Given the description of an element on the screen output the (x, y) to click on. 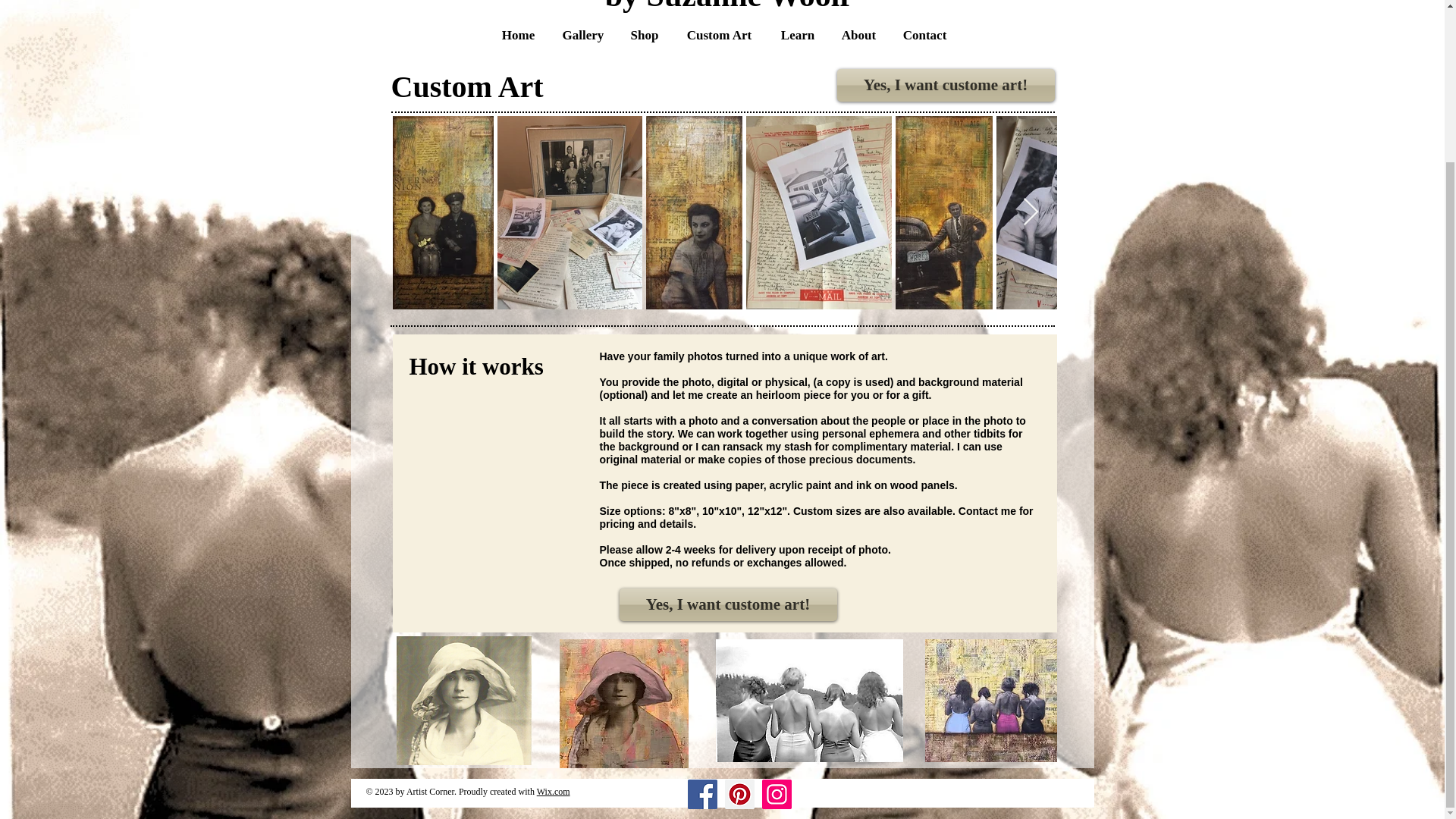
About (858, 35)
Wix.com (553, 791)
Yes, I want custome art! (726, 604)
by Suzanne Woolf (727, 6)
Yes, I want custome art! (945, 84)
Gallery (582, 35)
Shop (644, 35)
Home (517, 35)
Learn (797, 35)
Custom Art (719, 35)
Contact (923, 35)
